Given the description of an element on the screen output the (x, y) to click on. 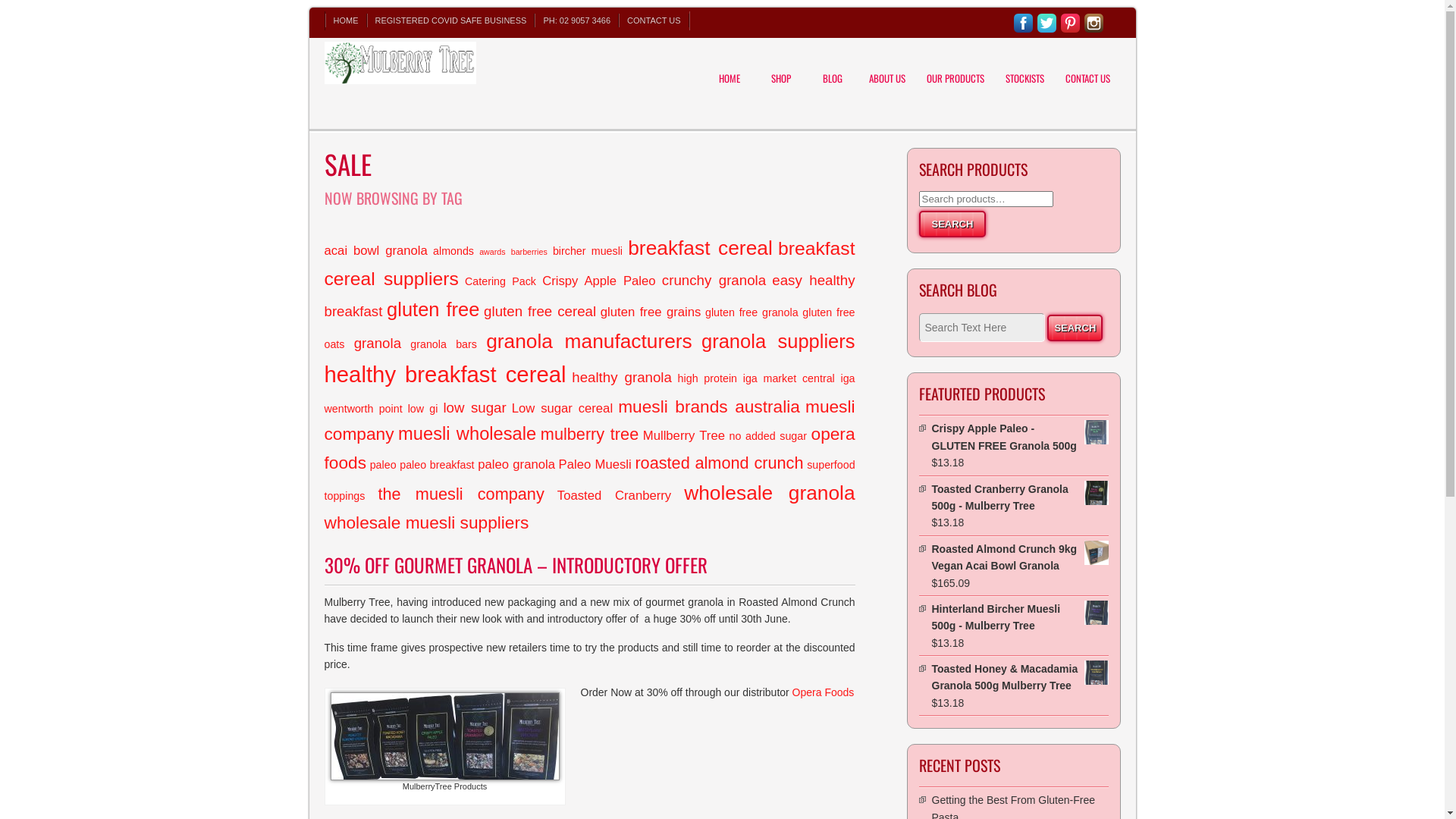
Catering Pack Element type: text (500, 281)
granola suppliers Element type: text (778, 340)
BLOG Element type: text (831, 67)
granola manufacturers Element type: text (589, 340)
paleo granola Element type: text (516, 464)
Hinterland Bircher Muesli 500g - Mulberry Tree Element type: text (1019, 617)
roasted almond crunch Element type: text (718, 462)
CONTACT US Element type: text (653, 20)
breakfast cereal suppliers Element type: text (589, 263)
Paleo Muesli Element type: text (594, 464)
Roasted Almond Crunch 9kg Vegan Acai Bowl Granola Element type: text (1019, 557)
HOME Element type: text (728, 67)
gluten free Element type: text (432, 309)
muesli wholesale Element type: text (467, 433)
paleo breakfast Element type: text (436, 464)
CONTACT US Element type: text (1087, 67)
Toasted Honey & Macadamia Granola 500g Mulberry Tree Element type: text (1019, 677)
PH: 02 9057 3466 Element type: text (576, 20)
superfood toppings Element type: text (589, 480)
paleo Element type: text (383, 464)
almonds Element type: text (453, 250)
SEARCH Element type: text (952, 223)
Crispy Apple Paleo - GLUTEN FREE Granola 500g Element type: text (1019, 437)
no added sugar Element type: text (767, 435)
healthy breakfast cereal Element type: text (445, 373)
iga market central Element type: text (788, 378)
high protein Element type: text (707, 378)
Search Element type: text (1074, 327)
Toasted Cranberry Element type: text (614, 495)
REGISTERED COVID SAFE BUSINESS Element type: text (451, 20)
gluten free cereal Element type: text (539, 311)
Low sugar cereal Element type: text (561, 408)
granola Element type: text (377, 343)
Toasted Cranberry Granola 500g - Mulberry Tree Element type: text (1019, 497)
wholesale muesli suppliers Element type: text (426, 522)
wholesale granola Element type: text (769, 492)
mulberry tree Element type: text (589, 433)
barberries Element type: text (529, 251)
opera foods Element type: text (589, 447)
gluten free oats Element type: text (589, 328)
bircher muesli Element type: text (587, 250)
gluten free granola Element type: text (751, 312)
the muesli company Element type: text (461, 493)
Mullberry Tree Element type: text (683, 435)
granola bars Element type: text (443, 344)
low sugar Element type: text (473, 407)
gluten free grains Element type: text (650, 311)
STOCKISTS Element type: text (1023, 67)
iga wentworth point Element type: text (589, 393)
low gi Element type: text (422, 408)
crunchy granola Element type: text (713, 280)
Opera Foods Element type: text (823, 692)
easy healthy breakfast Element type: text (589, 295)
muesli brands australia Element type: text (709, 406)
awards Element type: text (492, 251)
HOME Element type: text (345, 20)
OUR PRODUCTS Element type: text (954, 67)
healthy granola Element type: text (621, 377)
SHOP Element type: text (779, 67)
ABOUT US Element type: text (886, 67)
breakfast cereal Element type: text (699, 247)
acai bowl granola Element type: text (375, 250)
Crispy Apple Paleo Element type: text (598, 280)
muesli company Element type: text (589, 419)
